Given the description of an element on the screen output the (x, y) to click on. 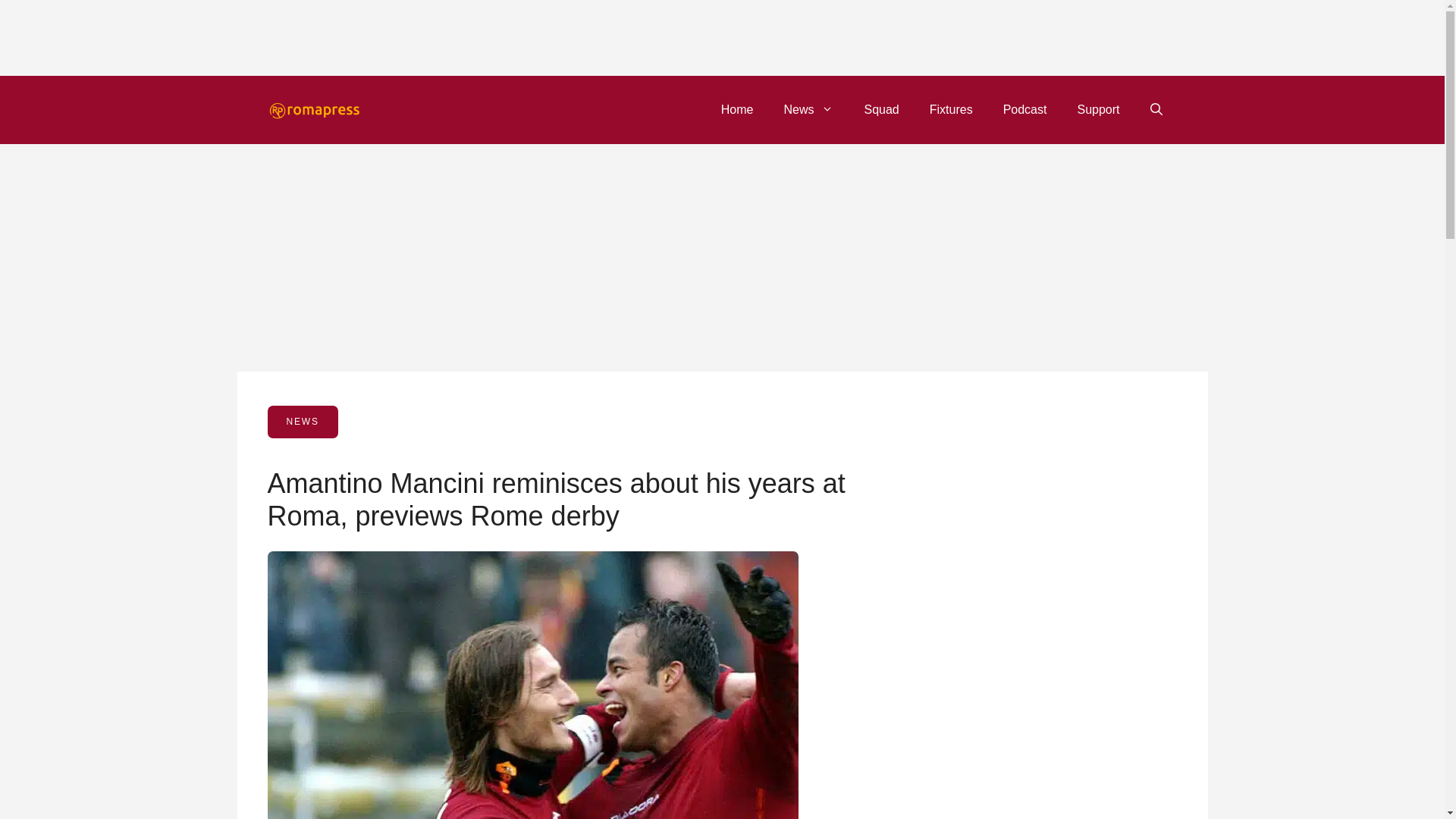
News (808, 109)
Squad (881, 109)
Fixtures (951, 109)
Home (737, 109)
Support (1097, 109)
Podcast (1025, 109)
